Given the description of an element on the screen output the (x, y) to click on. 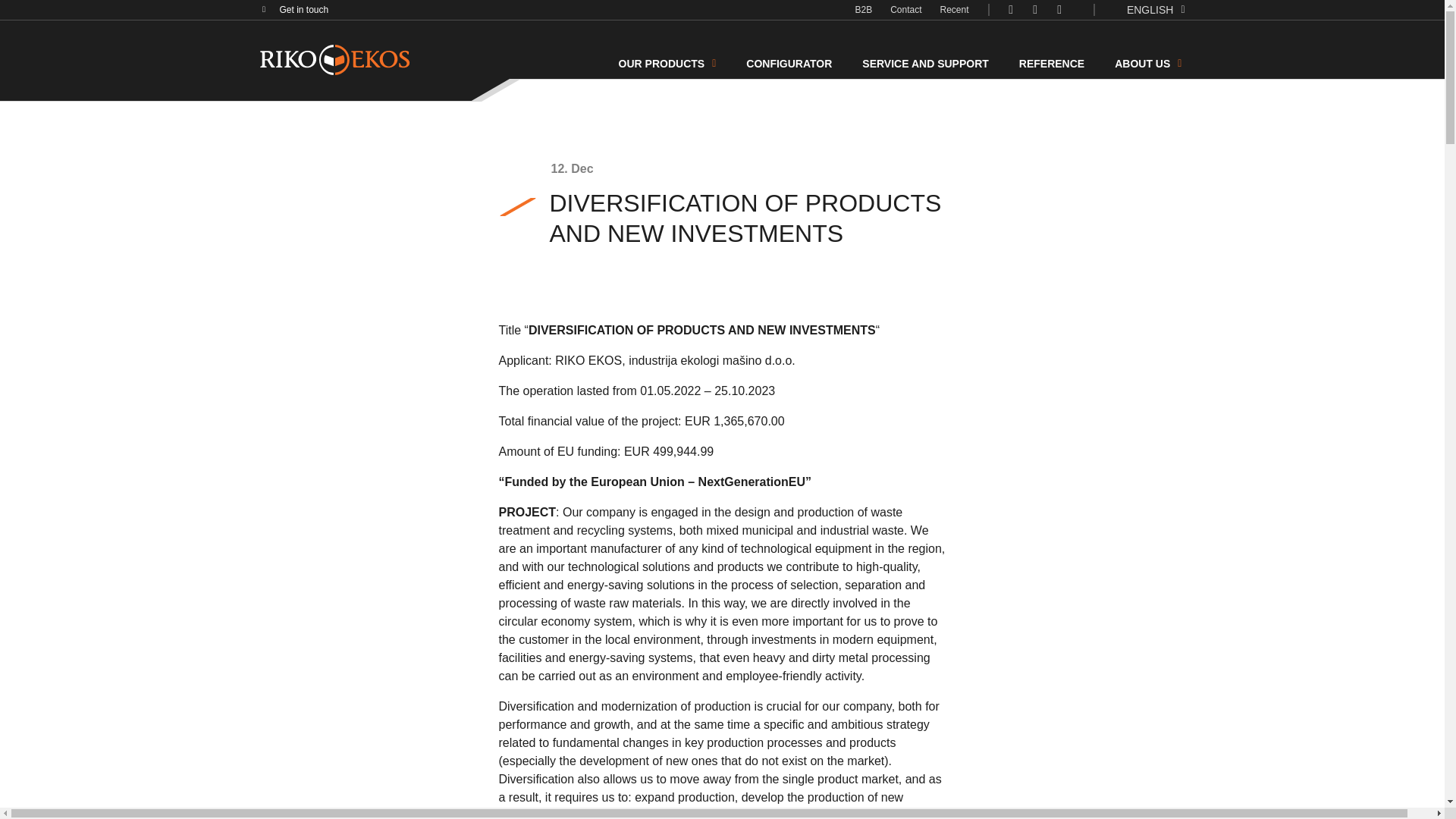
ENGLISH (1155, 9)
OUR PRODUCTS (667, 63)
Get in touch (304, 9)
REFERENCE (1051, 63)
ABOUT US (1147, 63)
SERVICE AND SUPPORT (924, 63)
Contact (905, 9)
CONFIGURATOR (788, 63)
Recent (954, 9)
